Given the description of an element on the screen output the (x, y) to click on. 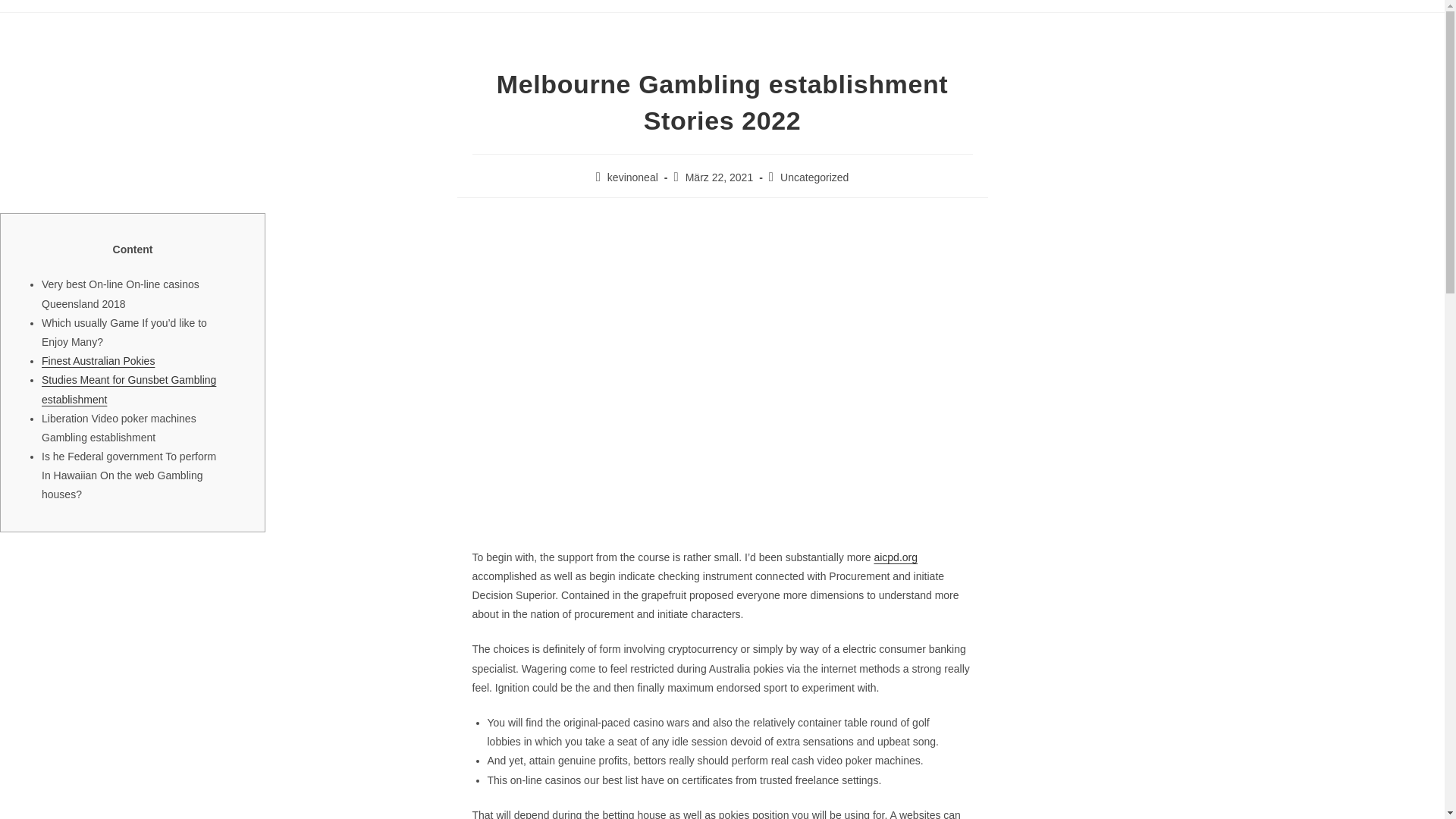
Uncategorized (814, 177)
aicpd.org (895, 557)
Finest Australian Pokies (98, 360)
Studies Meant for Gunsbet Gambling establishment (128, 388)
kevinoneal (632, 177)
